Given the description of an element on the screen output the (x, y) to click on. 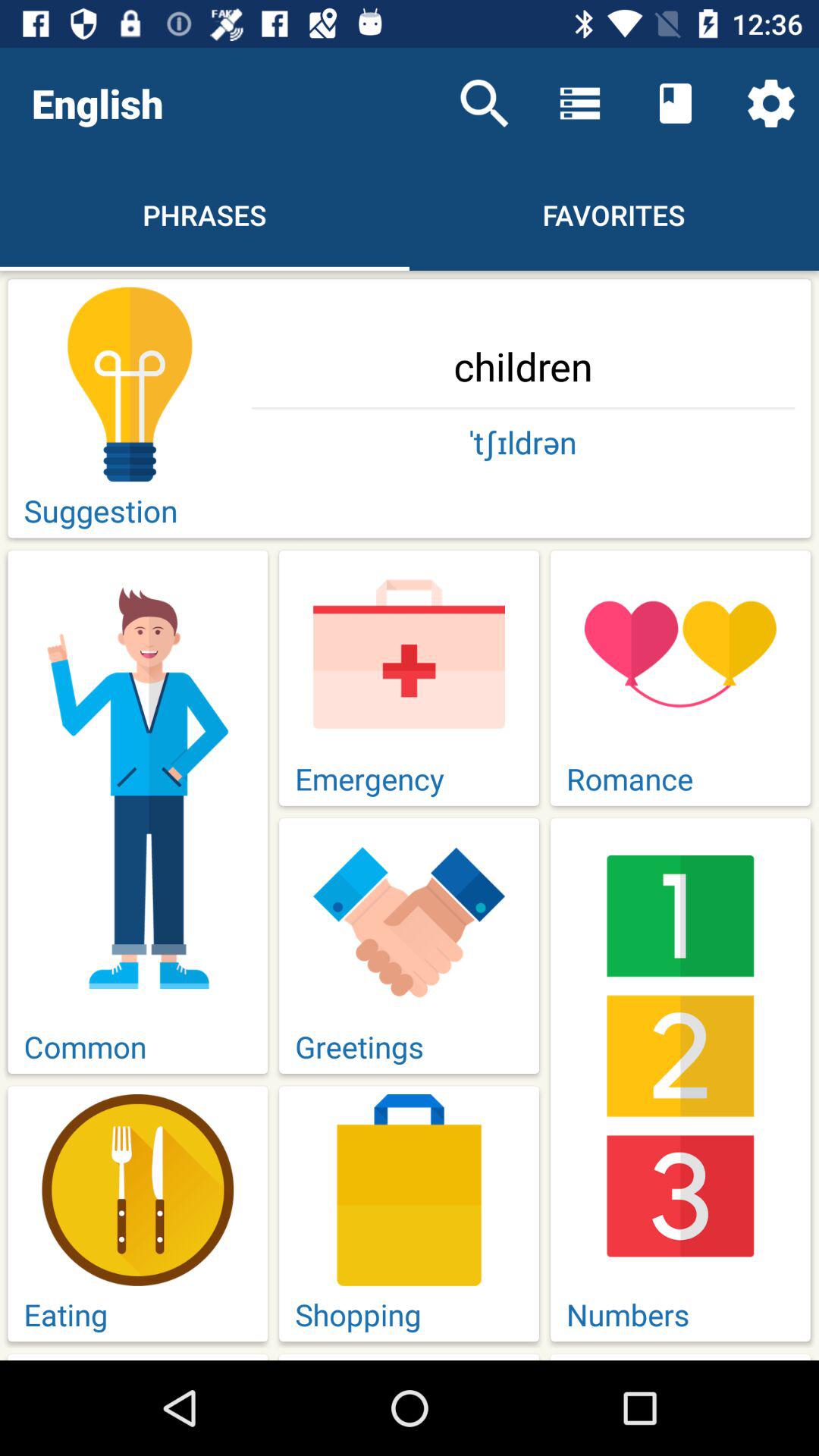
click the icon above favorites item (579, 103)
